Given the description of an element on the screen output the (x, y) to click on. 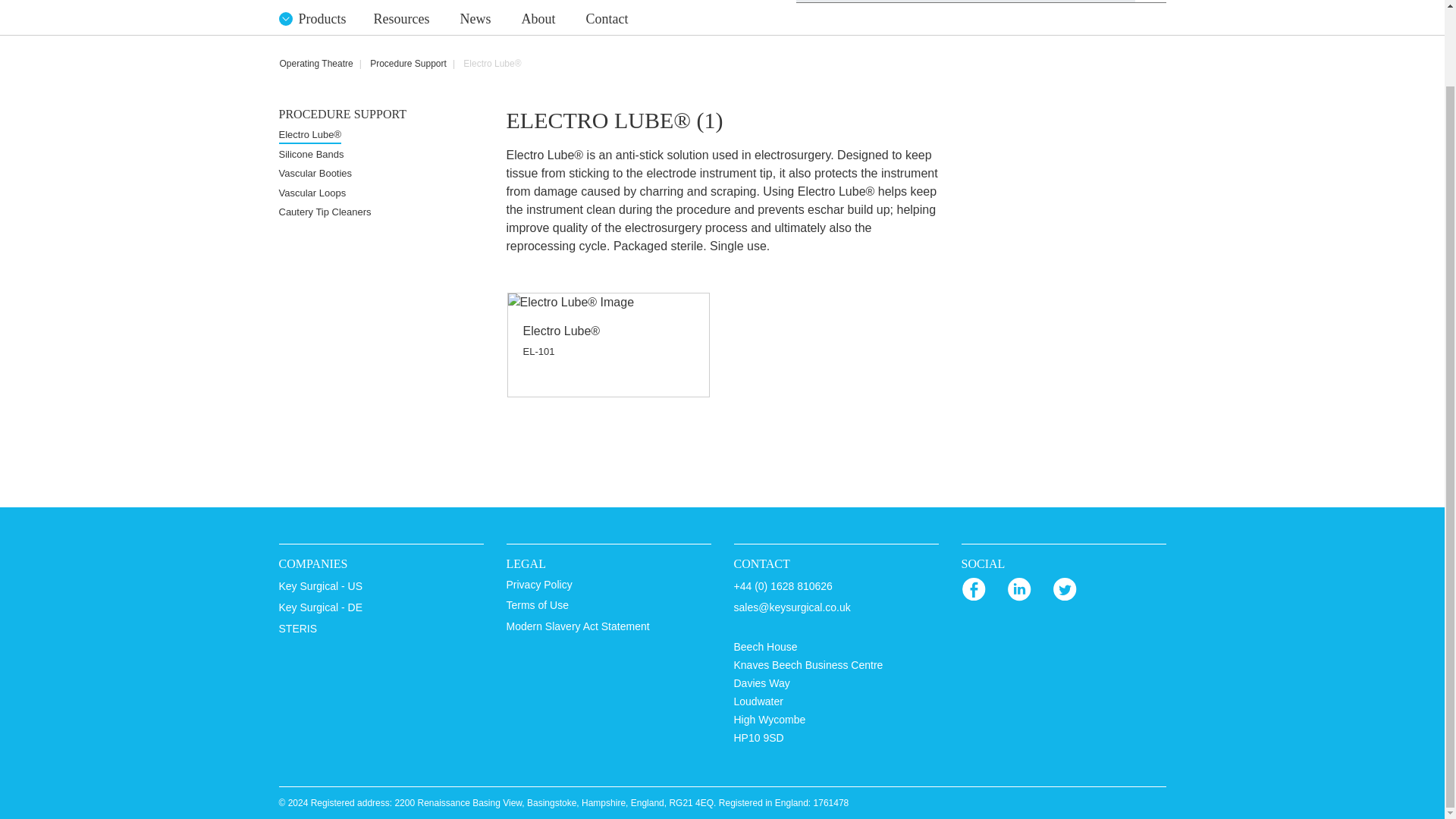
News (474, 19)
Contact (606, 19)
Products (318, 18)
About (537, 19)
Resources (401, 19)
